Given the description of an element on the screen output the (x, y) to click on. 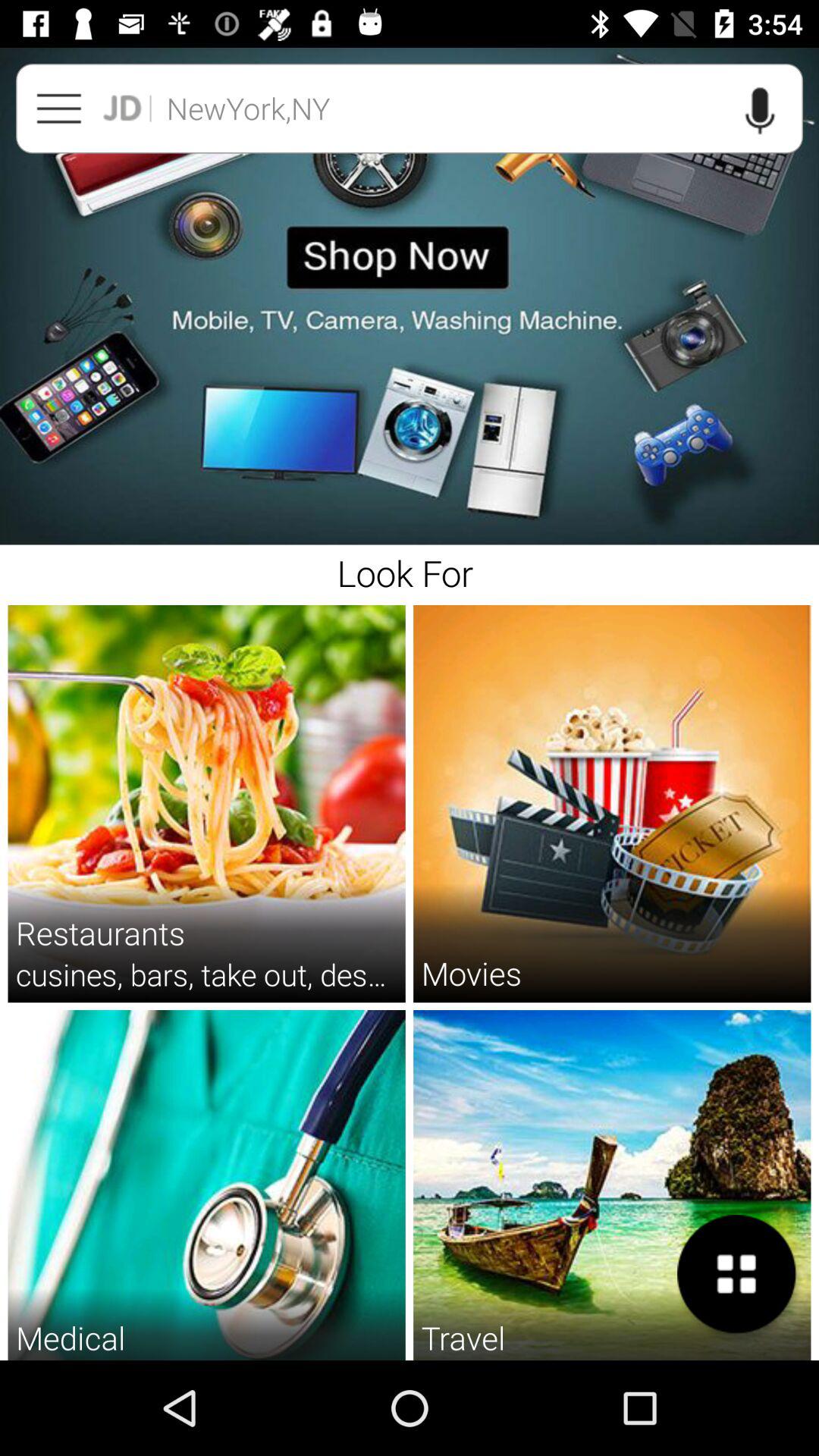
tap icon above look for (409, 296)
